Given the description of an element on the screen output the (x, y) to click on. 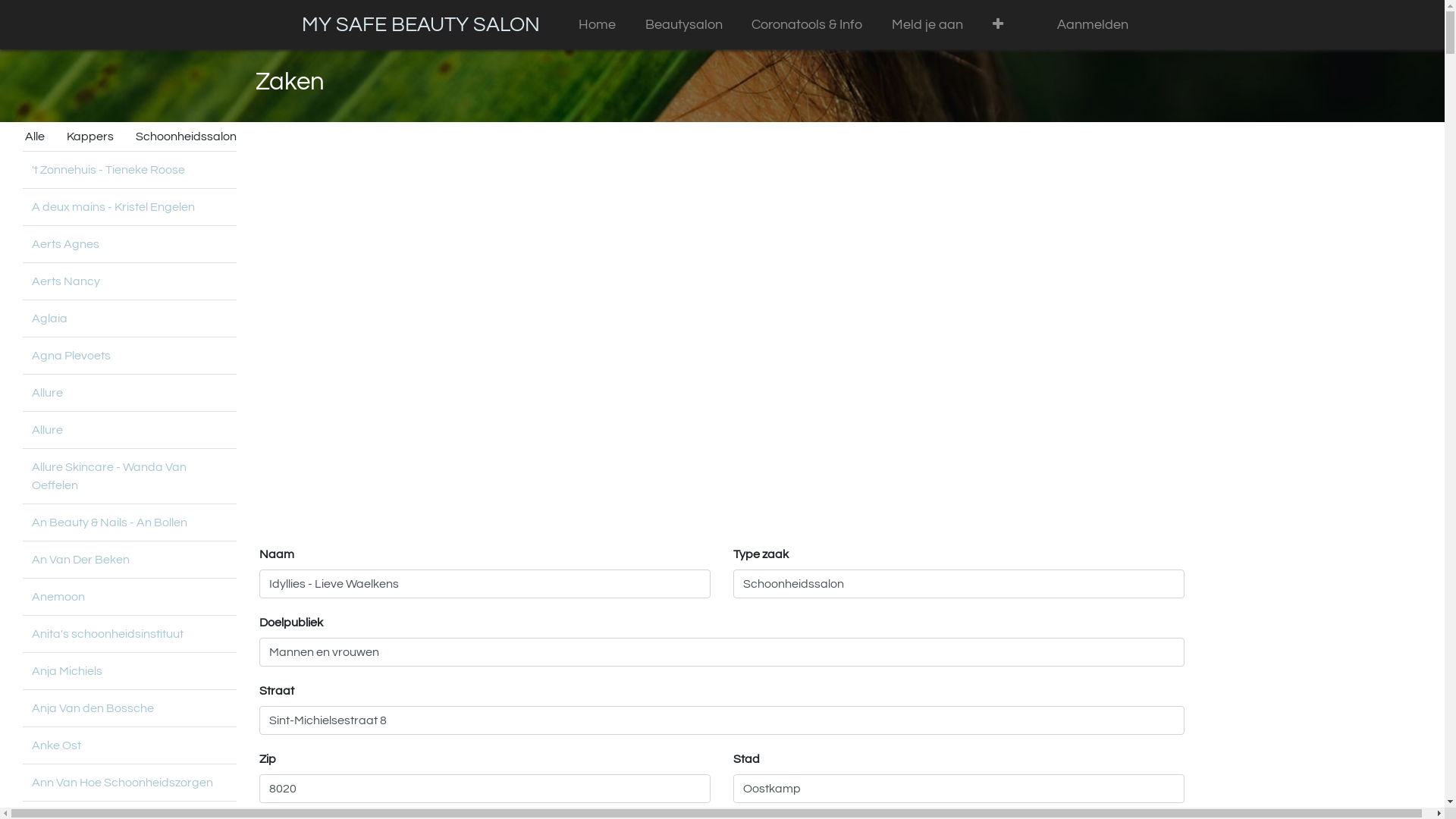
Ann Van Hoe Schoonheidszorgen Element type: text (122, 782)
Agna Plevoets Element type: text (70, 355)
Anja Michiels Element type: text (66, 671)
Schoonheidssalon Element type: text (185, 136)
Allure Element type: text (46, 392)
Allure Skincare - Wanda Van Oeffelen Element type: text (108, 476)
Anemoon Element type: text (57, 596)
't Zonnehuis - Tieneke Roose Element type: text (108, 169)
MY SAFE BEAUTY SALON Element type: text (420, 24)
Aglaia Element type: text (49, 318)
Aerts Nancy Element type: text (65, 281)
A deux mains - Kristel Engelen Element type: text (112, 206)
Home Element type: text (597, 24)
Aerts Agnes Element type: text (65, 244)
Coronatools & Info Element type: text (807, 24)
Alle Element type: text (34, 136)
An Beauty & Nails - An Bollen Element type: text (109, 522)
Anke Ost Element type: text (56, 745)
Aanmelden Element type: text (1092, 24)
Anja Van den Bossche Element type: text (92, 708)
Anita's schoonheidsinstituut Element type: text (107, 633)
Beautysalon Element type: text (683, 24)
An Van Der Beken Element type: text (80, 559)
Meld je aan Element type: text (927, 24)
Allure Element type: text (46, 429)
Kappers Element type: text (89, 136)
